Given the description of an element on the screen output the (x, y) to click on. 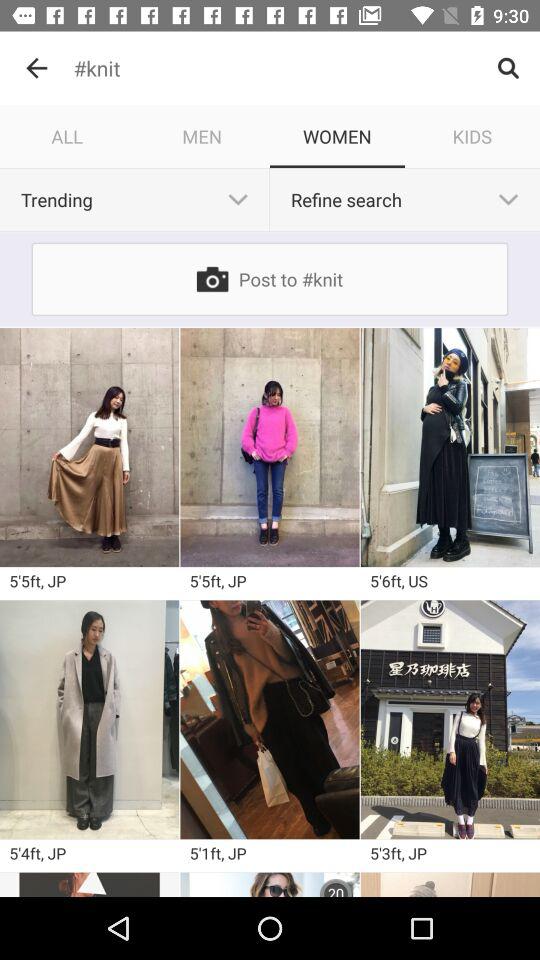
choose item to the right of the women icon (472, 136)
